Given the description of an element on the screen output the (x, y) to click on. 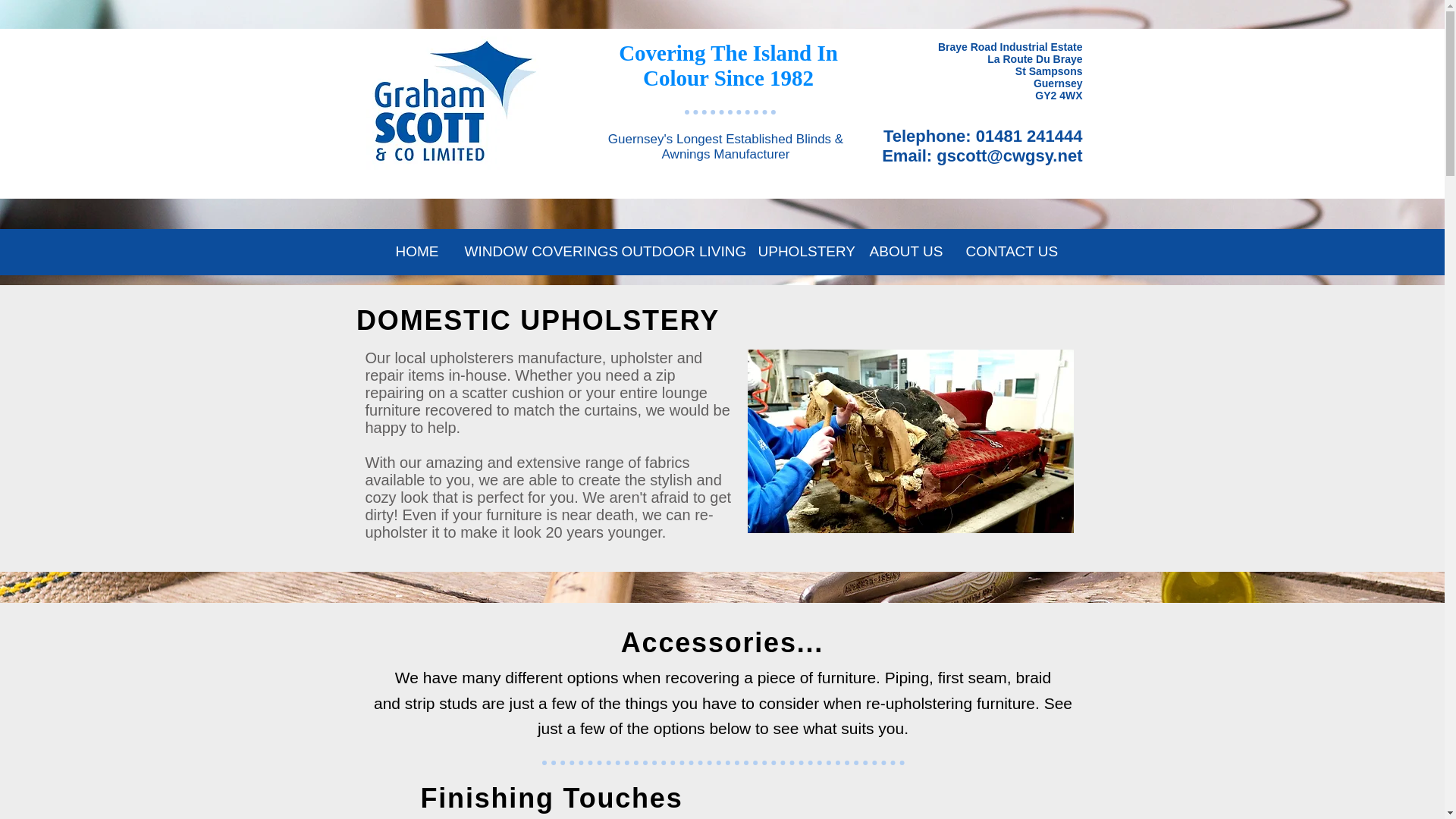
OUTDOOR LIVING (677, 251)
HOME (416, 251)
UPHOLSTERY (801, 251)
WINDOW COVERINGS (531, 251)
CONTACT US (1007, 251)
ABOUT US (907, 251)
